Given the description of an element on the screen output the (x, y) to click on. 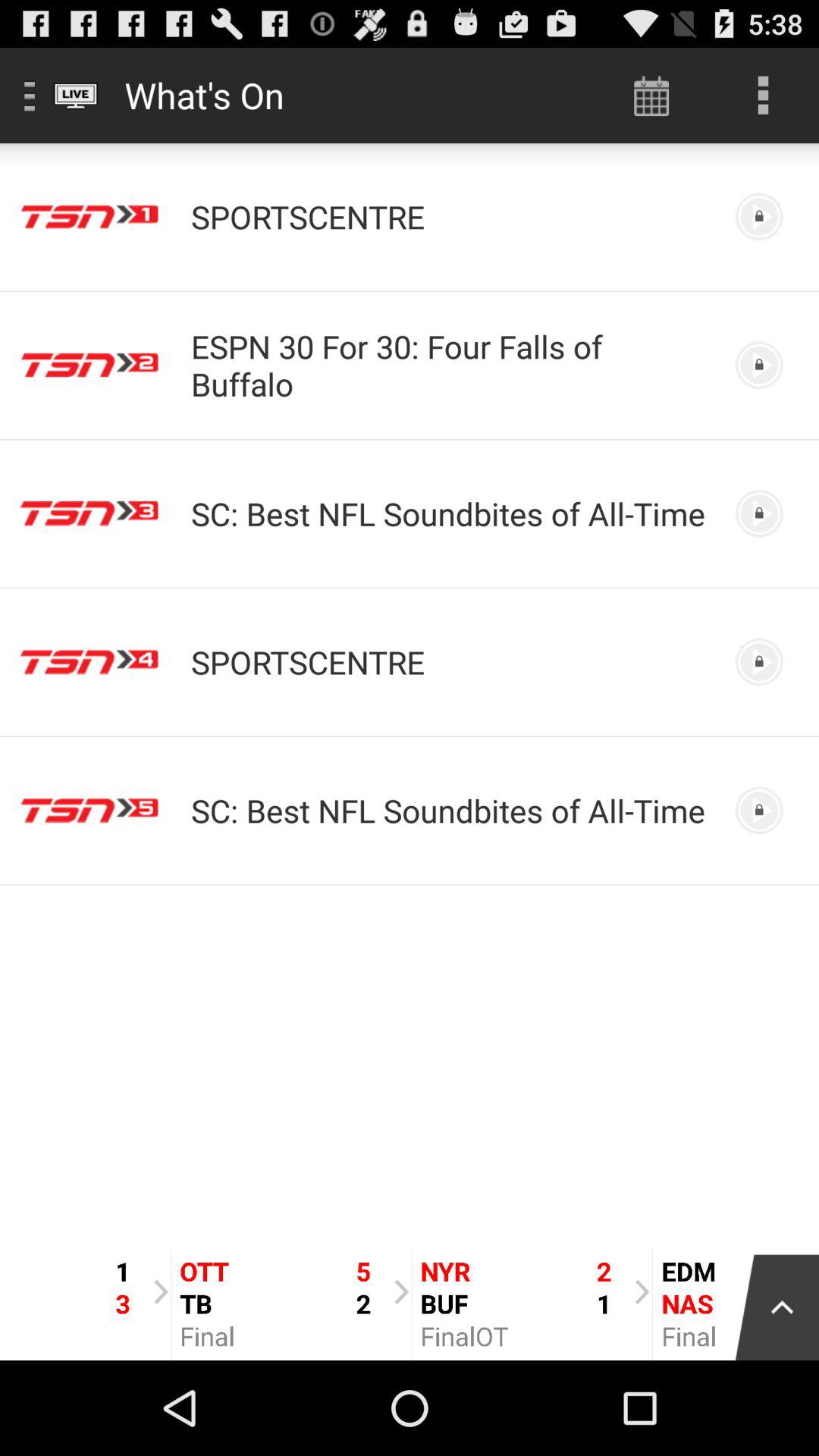
select item next to what's on (651, 95)
